Given the description of an element on the screen output the (x, y) to click on. 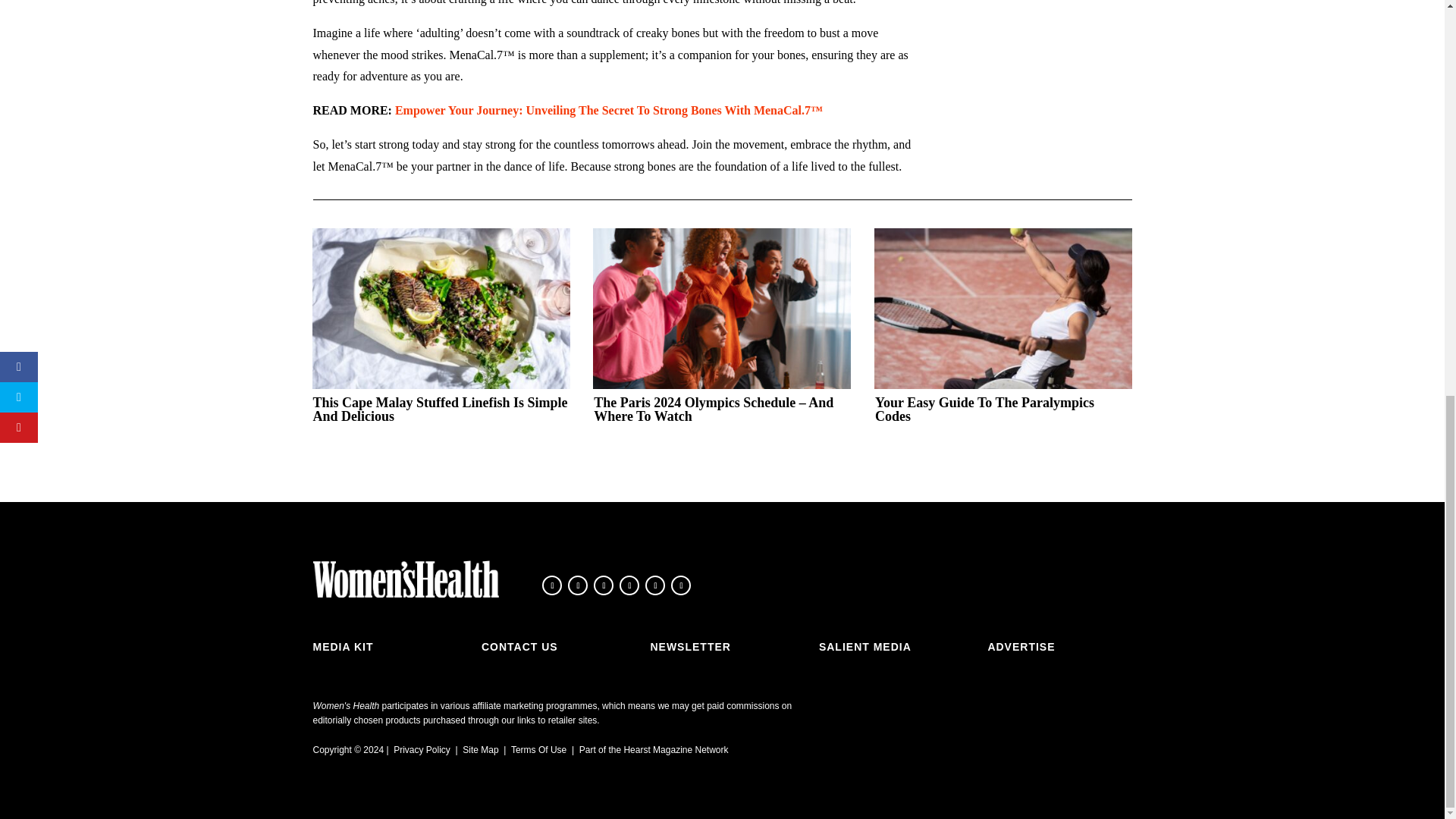
Follow on TikTok (629, 585)
Follow on Youtube (655, 585)
Follow on Instagram (603, 585)
Follow on Facebook (551, 585)
Follow on Pinterest (680, 585)
Follow on X (577, 585)
